Given the description of an element on the screen output the (x, y) to click on. 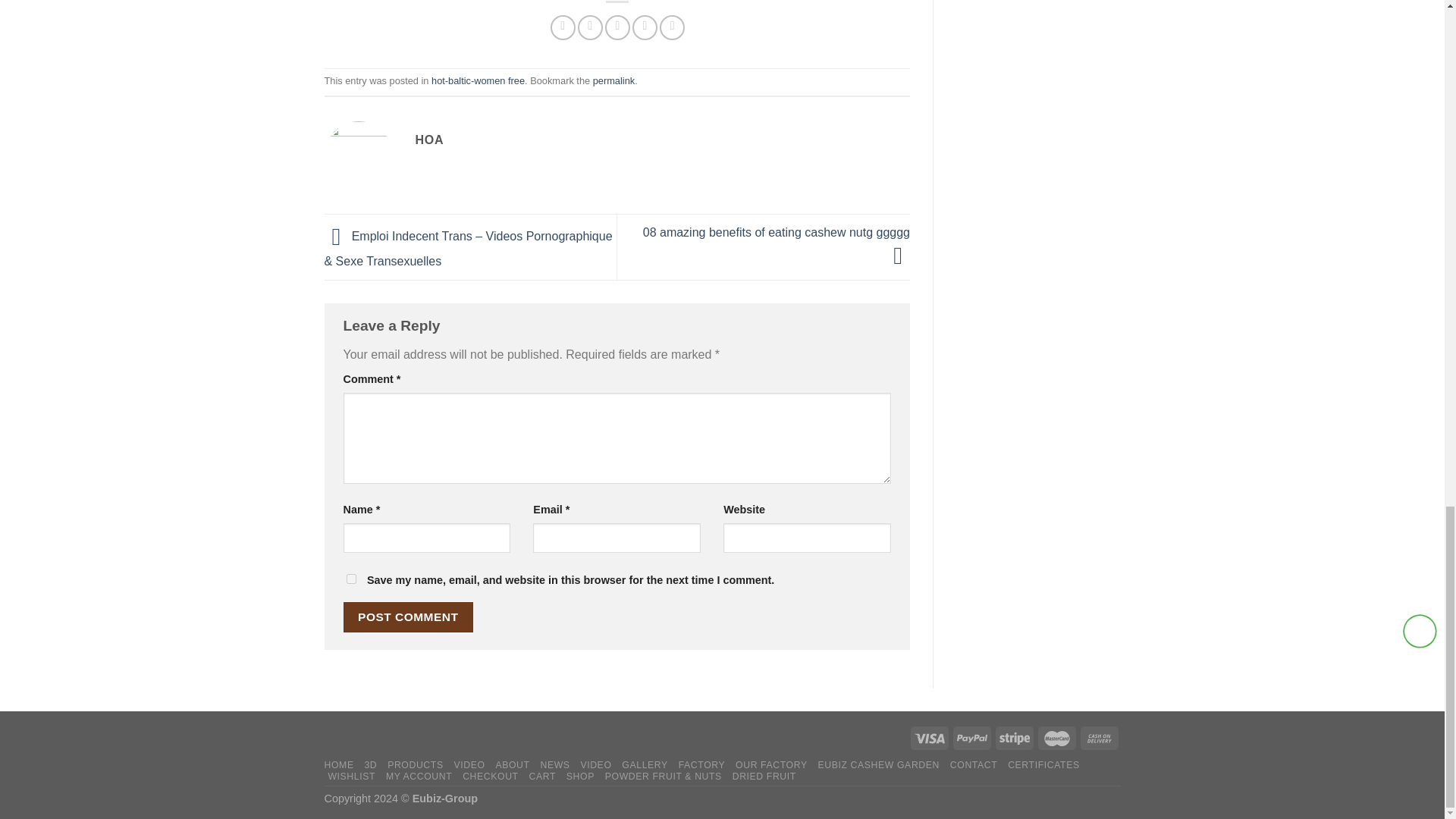
Share on LinkedIn (671, 27)
hot-baltic-women free (477, 80)
Share on Twitter (590, 27)
permalink (613, 80)
Post Comment (407, 616)
Pin on Pinterest (644, 27)
yes (350, 578)
Post Comment (407, 616)
08 amazing benefits of eating cashew nutg ggggg (776, 244)
